Given the description of an element on the screen output the (x, y) to click on. 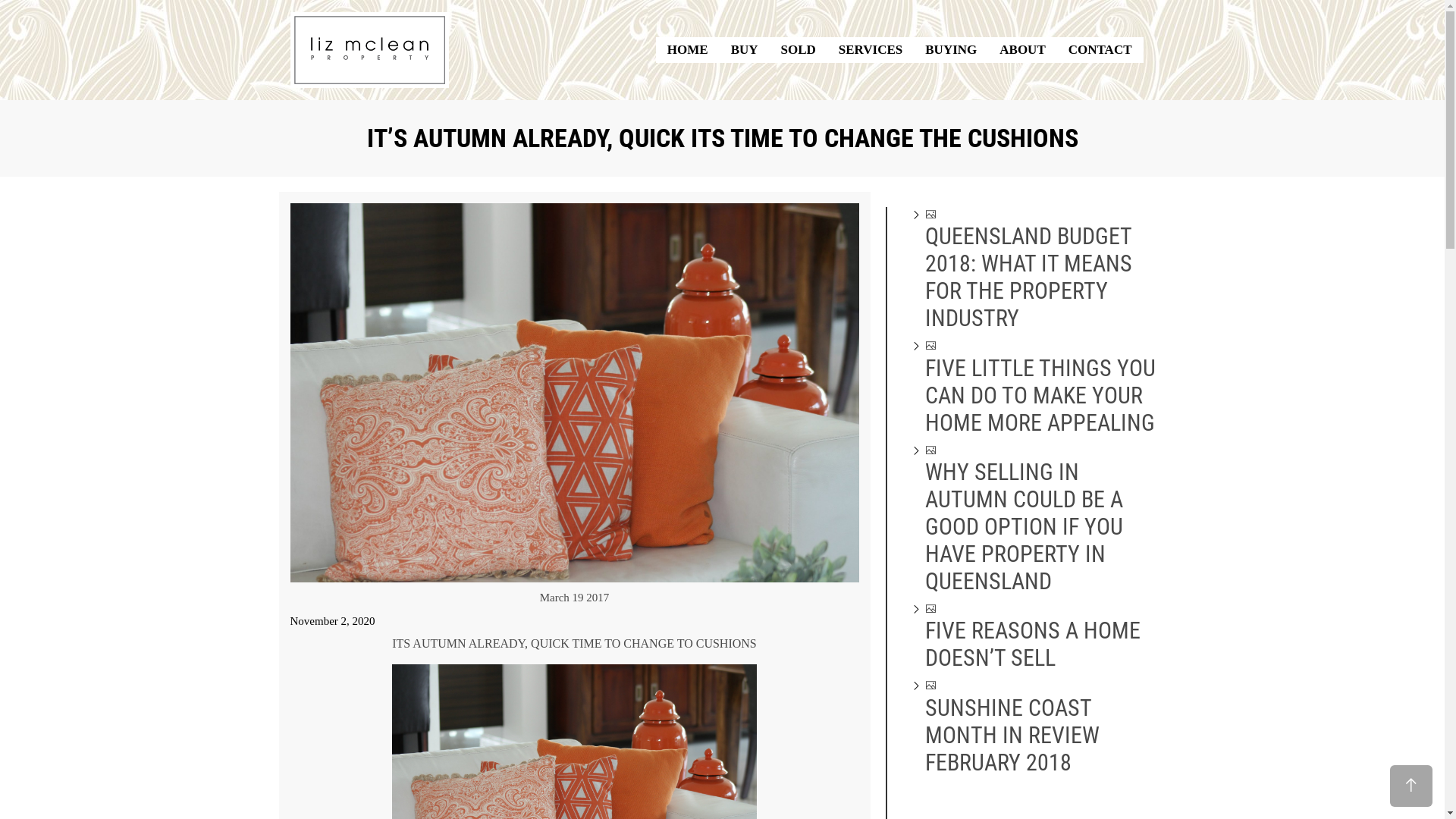
BUY Element type: text (744, 49)
ABOUT Element type: text (1022, 49)
March 19 2017
November 2, 2020 Element type: text (573, 608)
SERVICES Element type: text (870, 49)
HOME Element type: text (687, 49)
SOLD Element type: text (798, 49)
BUYING Element type: text (950, 49)
CONTACT Element type: text (1100, 49)
SUNSHINE COAST MONTH IN REVIEW FEBRUARY 2018 Element type: text (1041, 729)
